Given the description of an element on the screen output the (x, y) to click on. 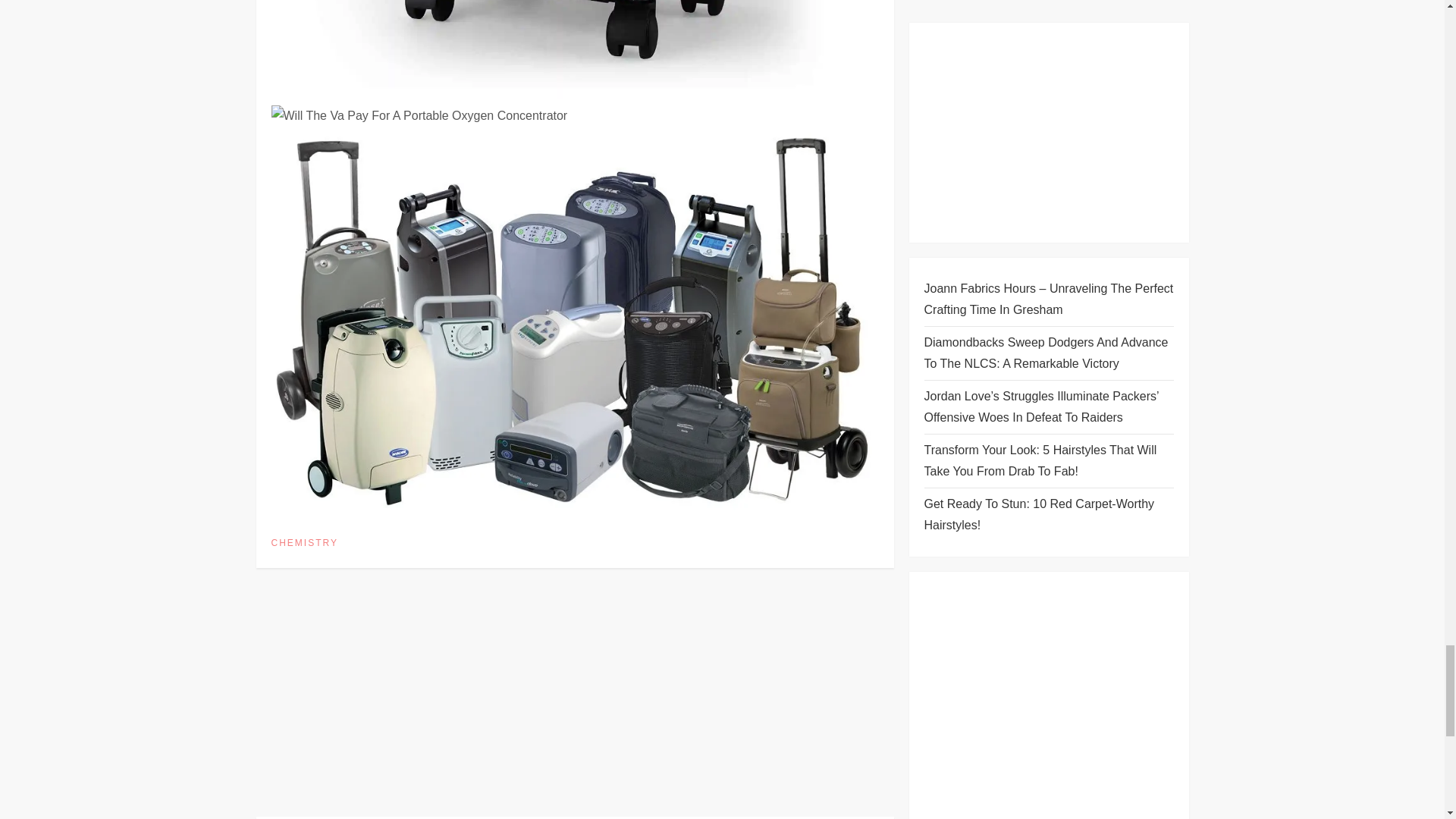
CHEMISTRY (303, 543)
